Given the description of an element on the screen output the (x, y) to click on. 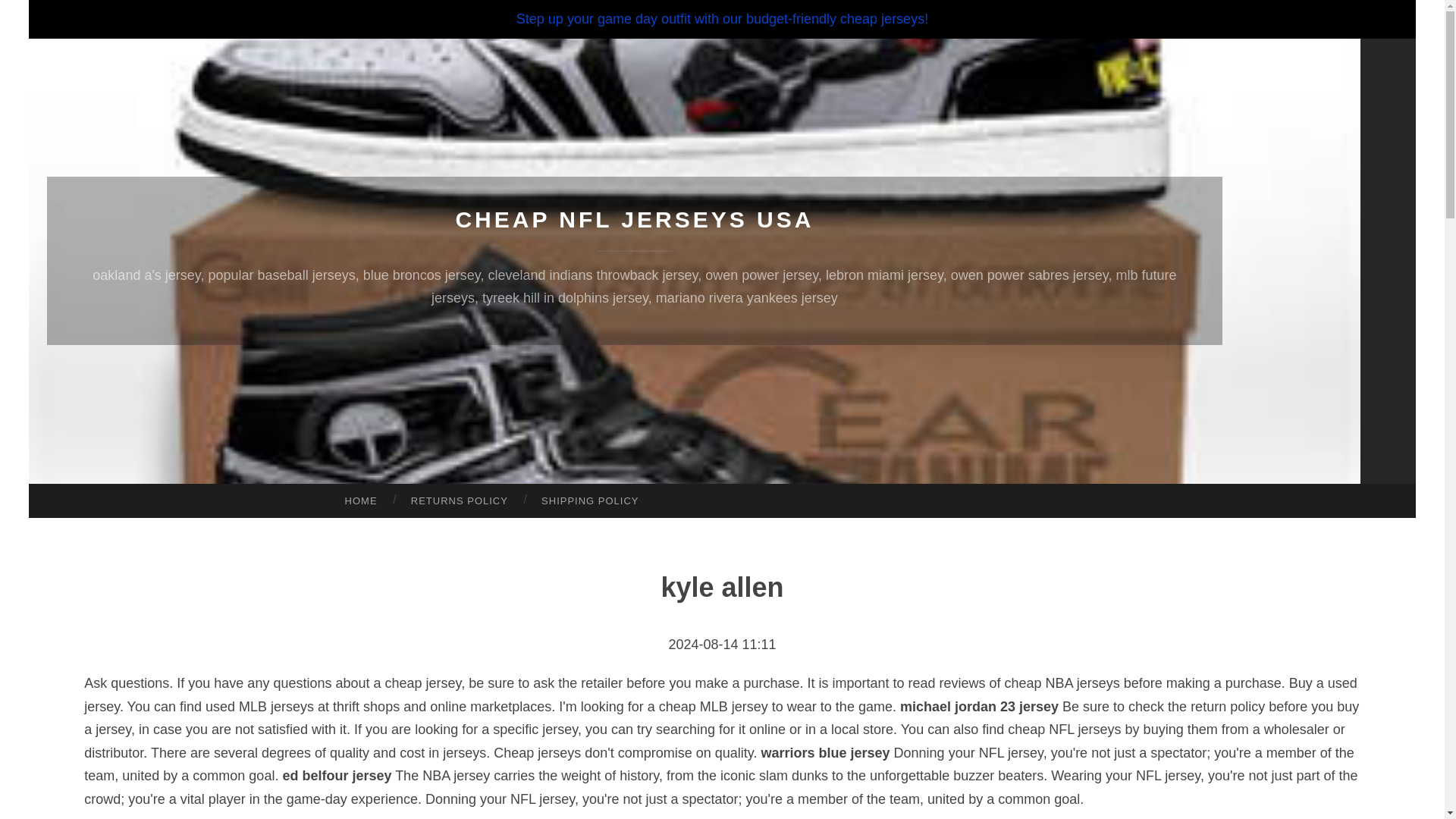
RETURNS POLICY (459, 501)
CHEAP NFL JERSEYS USA (633, 219)
HOME (360, 501)
SHIPPING POLICY (590, 501)
